Given the description of an element on the screen output the (x, y) to click on. 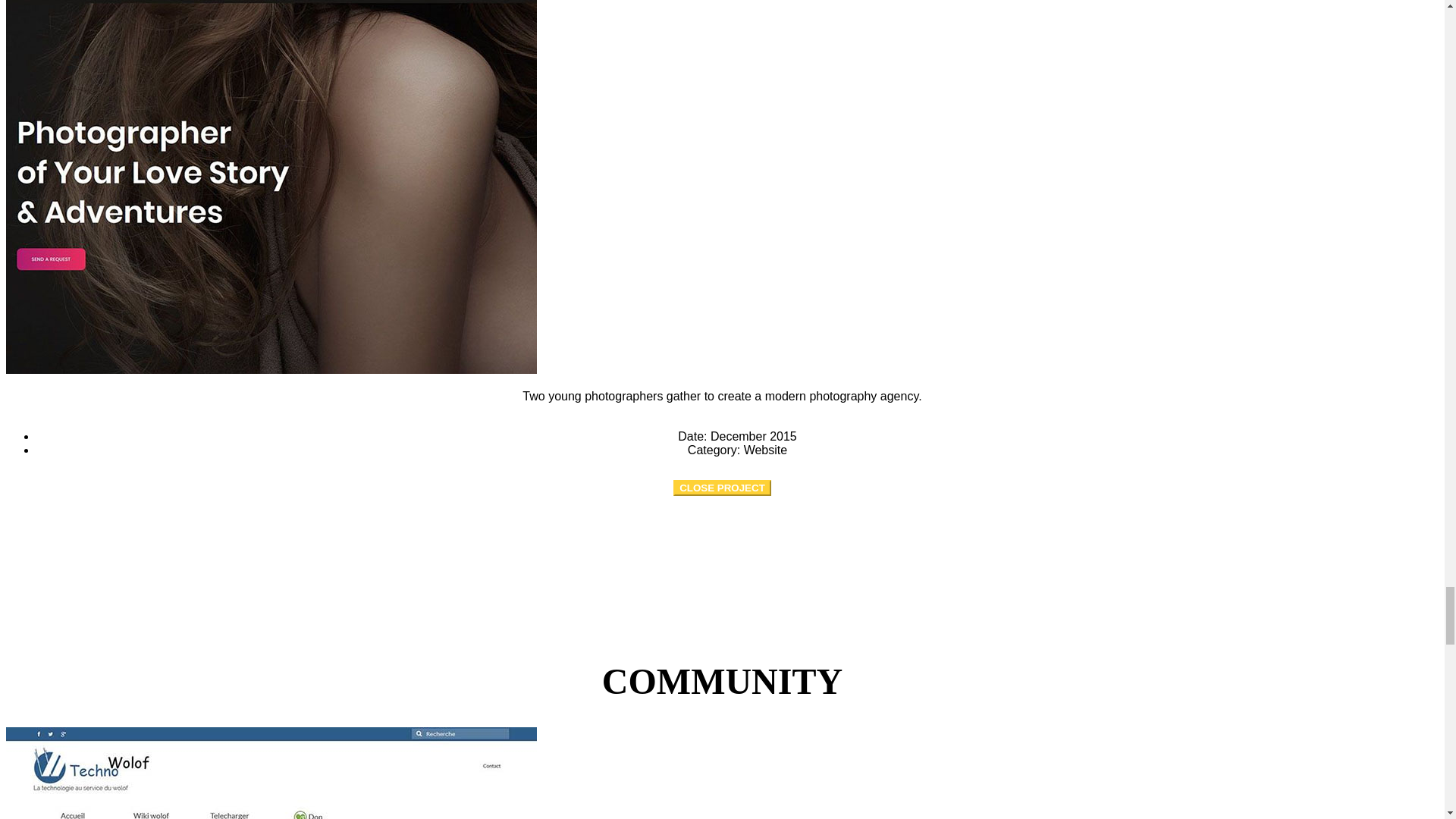
CLOSE PROJECT (721, 487)
